Given the description of an element on the screen output the (x, y) to click on. 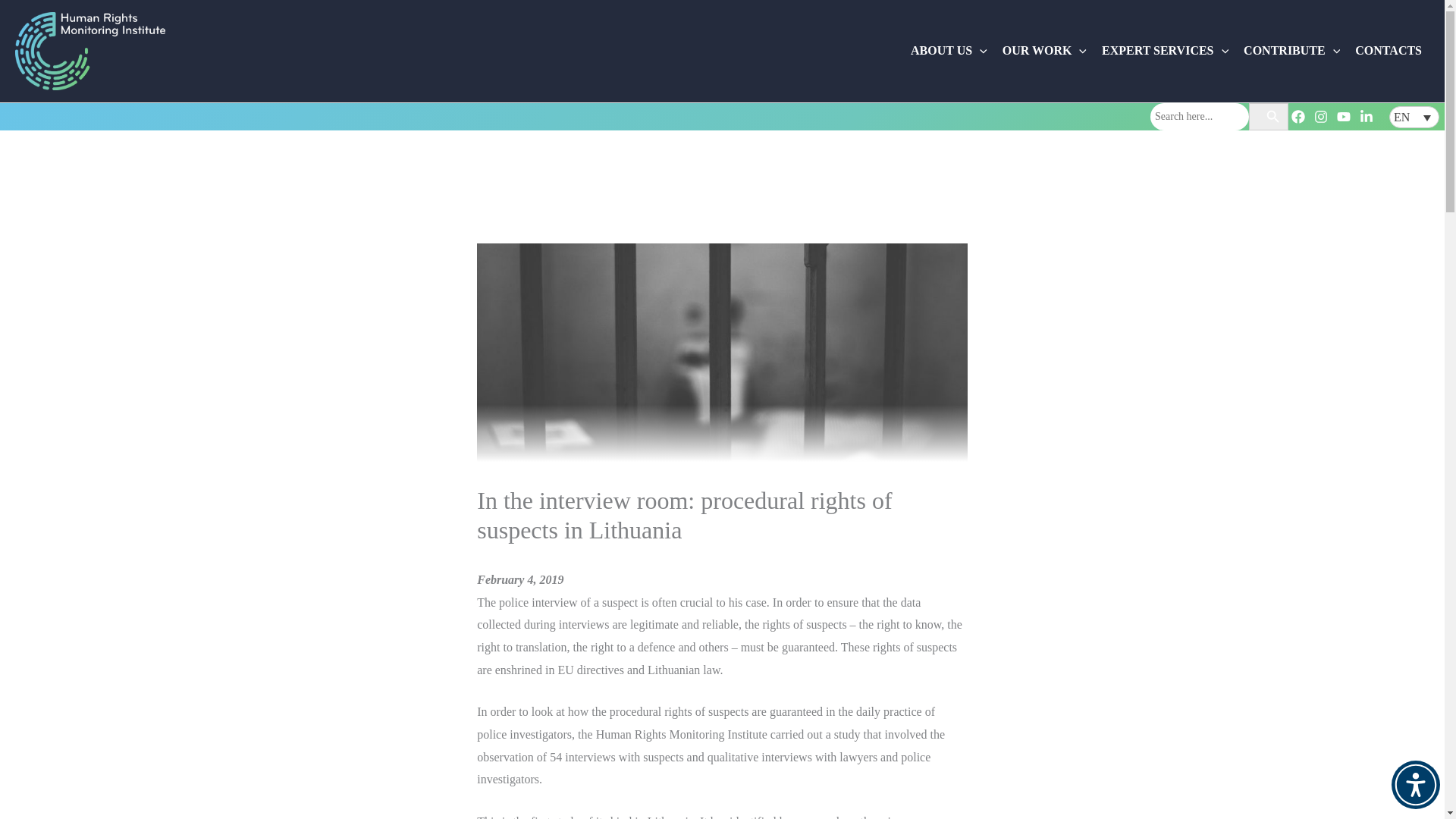
EN (1414, 116)
ABOUT US (948, 50)
Search Button (1262, 116)
OUR WORK (1044, 50)
CONTRIBUTE (1292, 50)
CONTACTS (1388, 50)
EXPERT SERVICES (1165, 50)
Accessibility Menu (1415, 784)
